Given the description of an element on the screen output the (x, y) to click on. 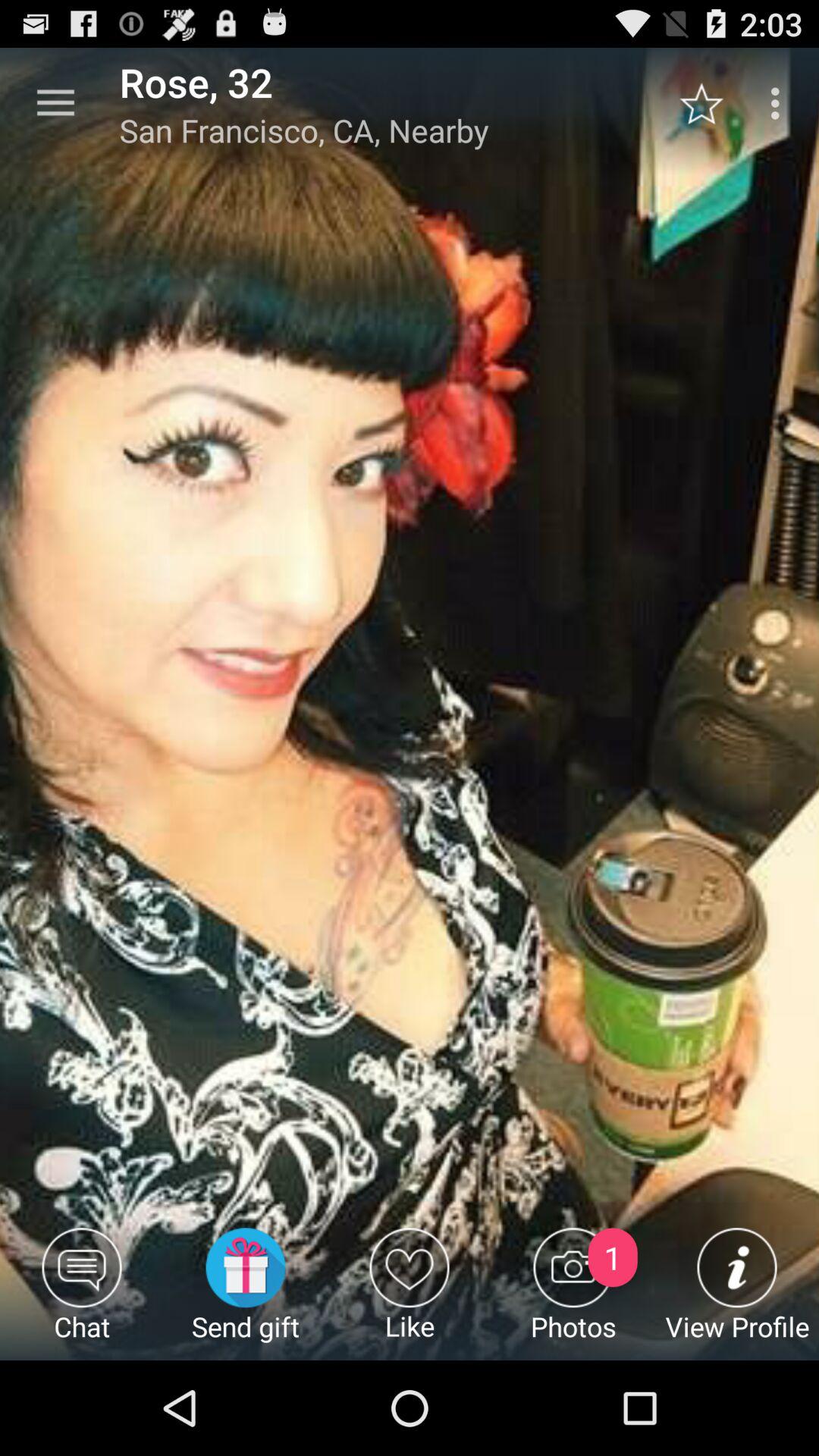
click the item next to the send gift icon (409, 1293)
